Given the description of an element on the screen output the (x, y) to click on. 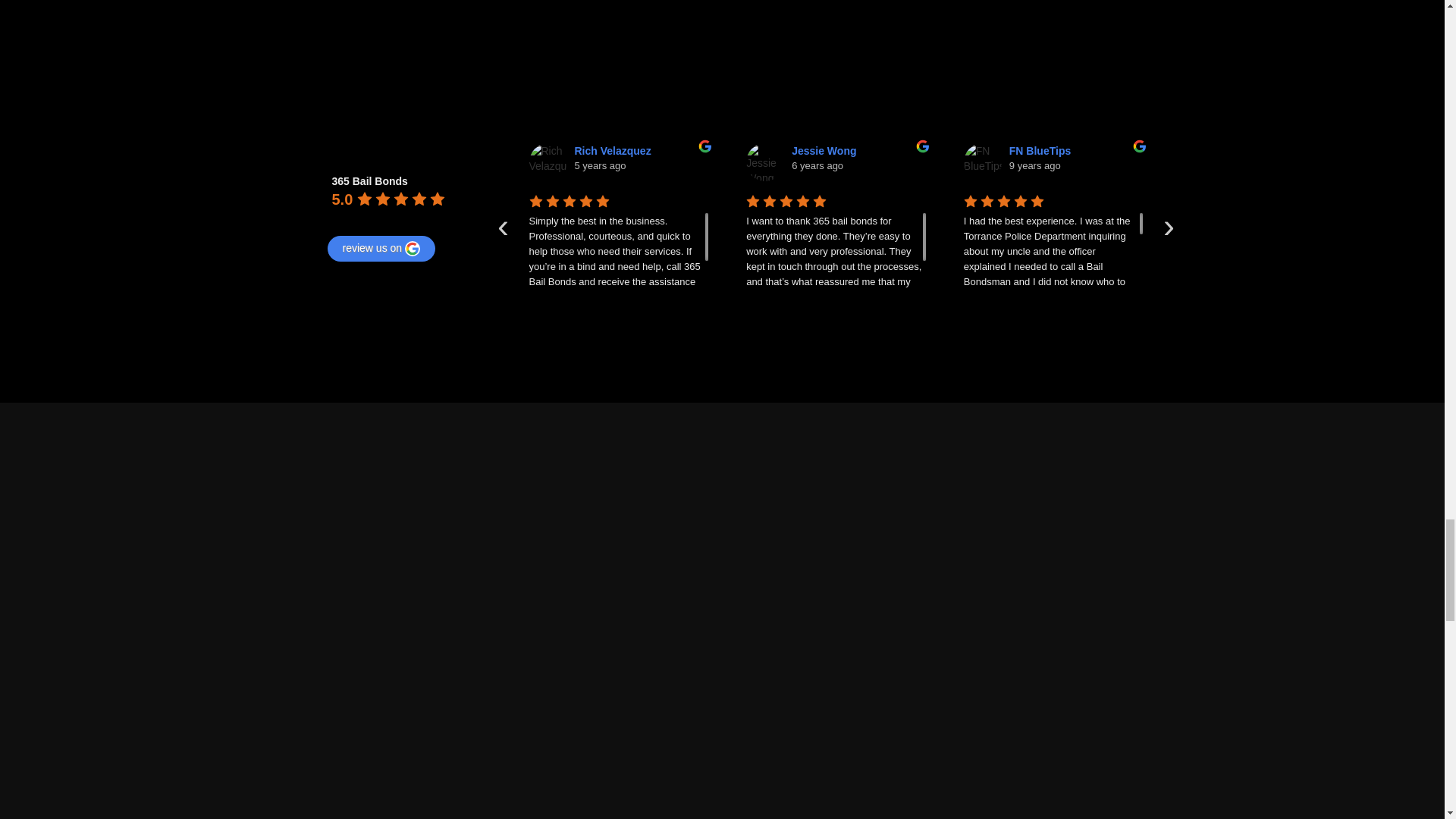
365 Bail Bonds (305, 192)
Rich Velazquez (548, 161)
FN BlueTips (982, 161)
powered by Google (386, 218)
Jessie Wong (764, 161)
